Given the description of an element on the screen output the (x, y) to click on. 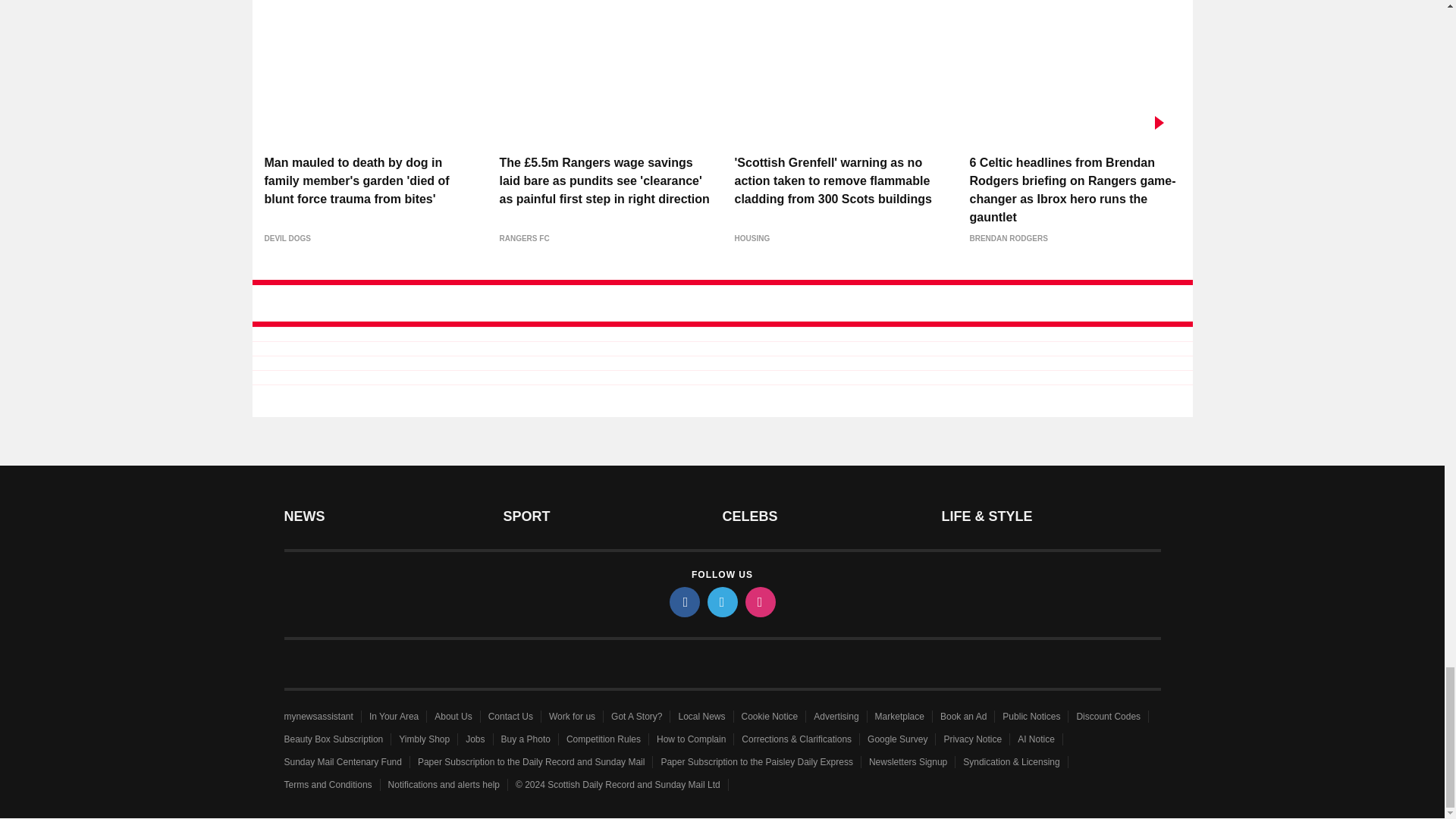
instagram (759, 602)
twitter (721, 602)
facebook (683, 602)
